Given the description of an element on the screen output the (x, y) to click on. 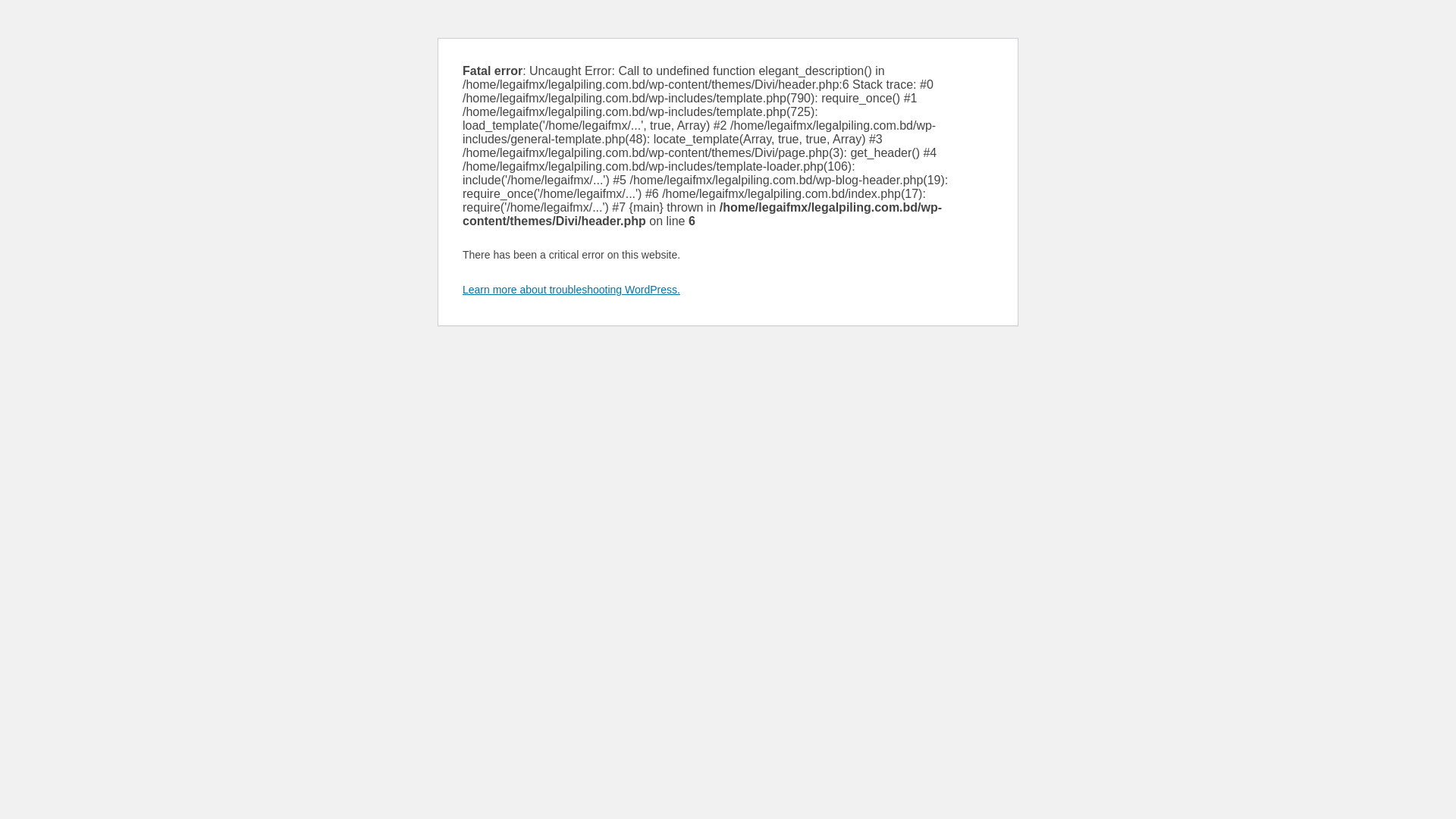
Learn more about troubleshooting WordPress. Element type: text (571, 289)
